Given the description of an element on the screen output the (x, y) to click on. 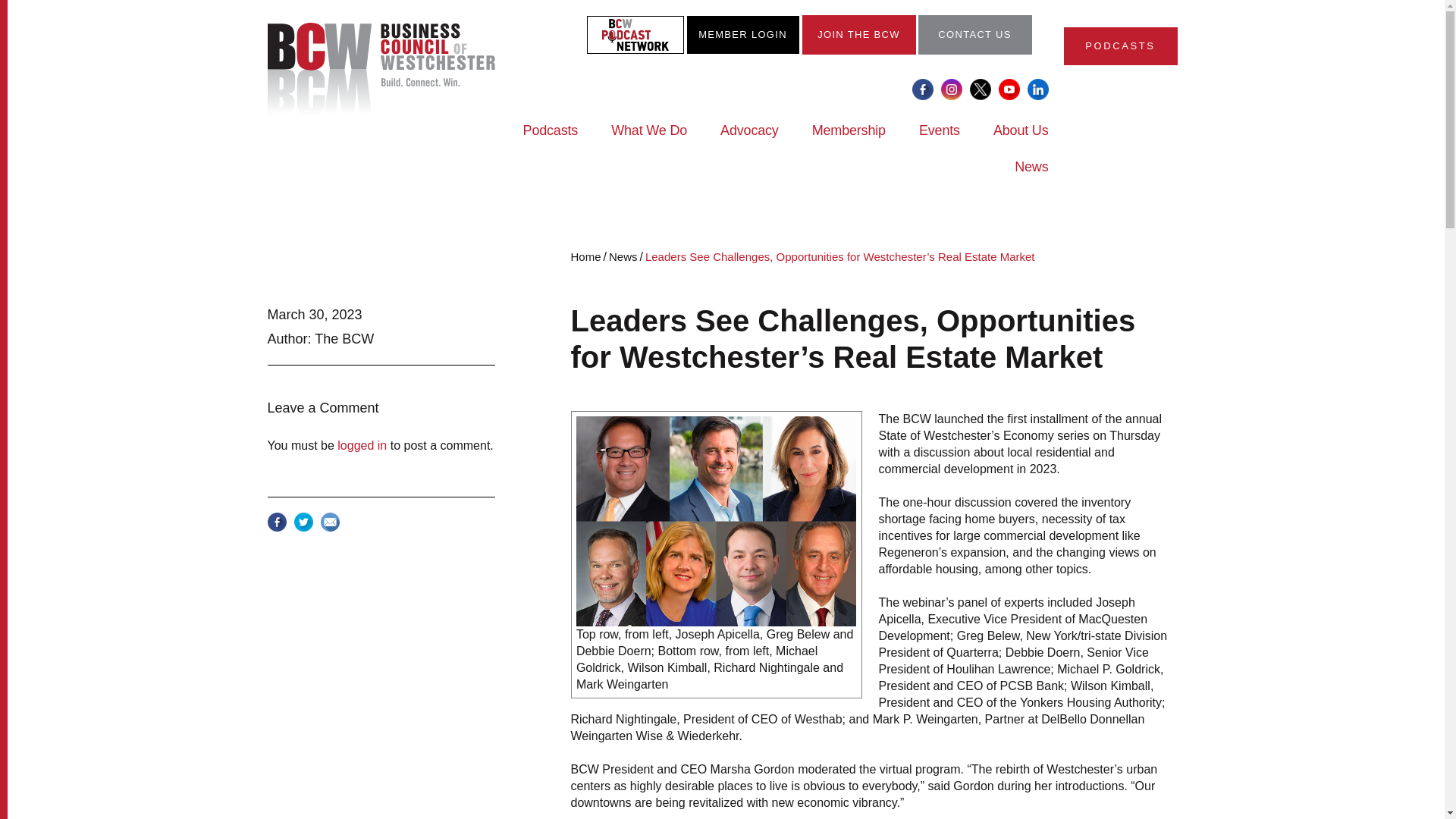
Podcasts (550, 139)
Membership (848, 139)
Go to Business Council of Westchester. (586, 256)
Advocacy (749, 139)
What We Do (649, 139)
Go to News. (623, 256)
